Given the description of an element on the screen output the (x, y) to click on. 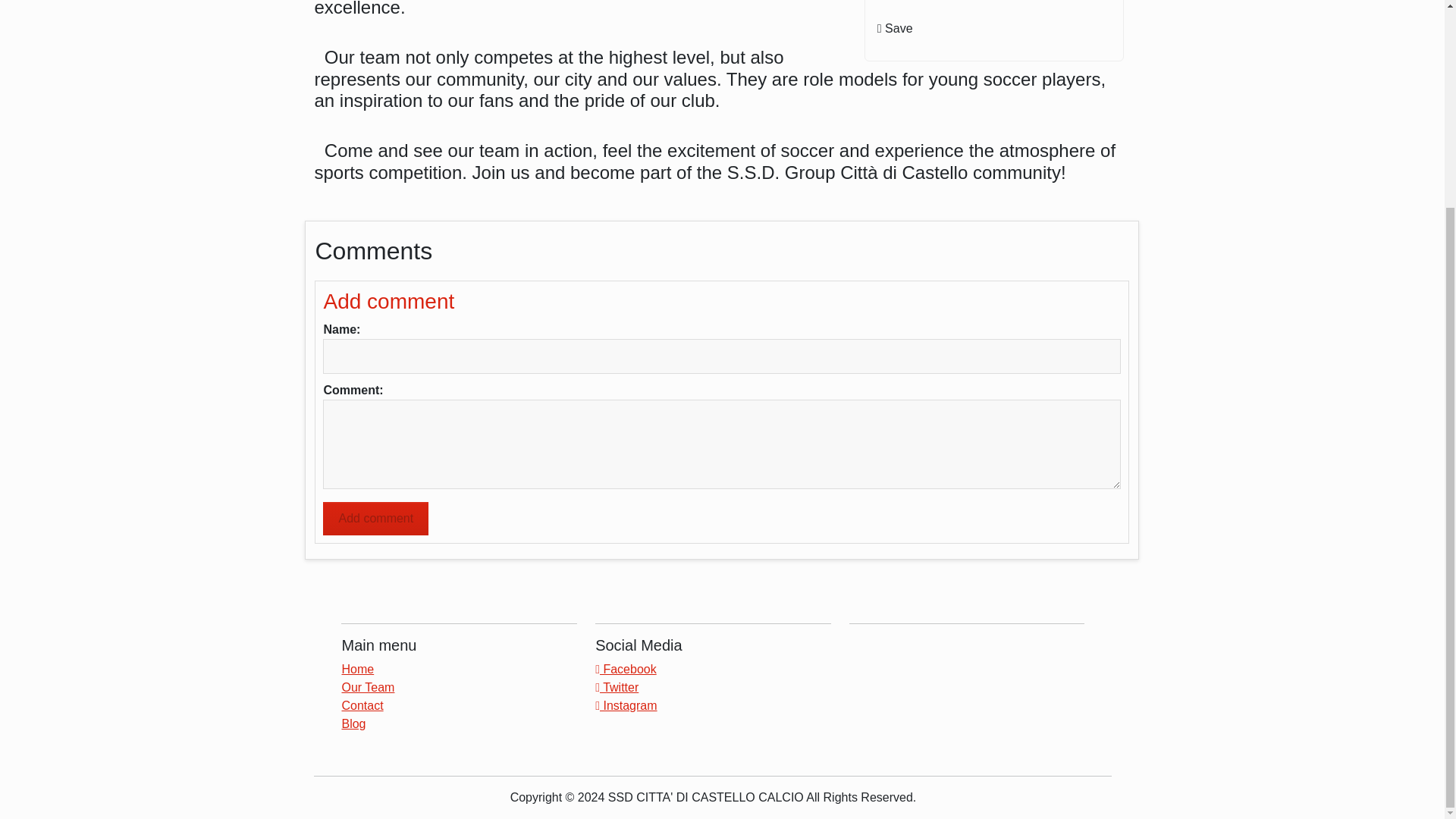
Save (994, 29)
Blog (352, 723)
Twitter (617, 686)
Like it (994, 4)
Our Team (367, 686)
Add comment (375, 518)
Contact (361, 705)
Instagram (625, 705)
Home (357, 668)
Facebook (625, 668)
